Given the description of an element on the screen output the (x, y) to click on. 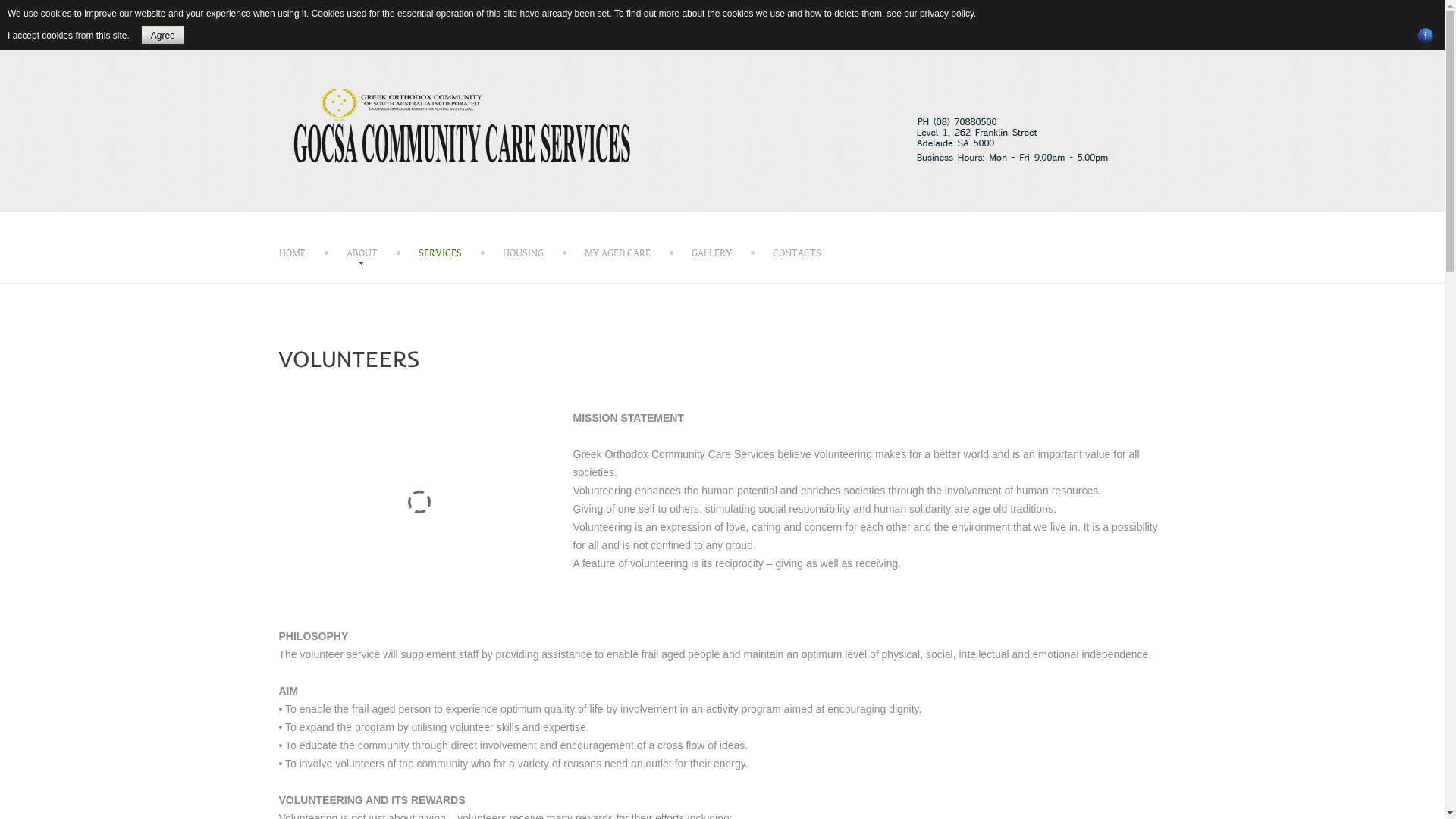
HOME Element type: text (292, 253)
CONTACTS Element type: text (795, 253)
Agree Element type: text (162, 34)
MY AGED CARE Element type: text (616, 253)
EU Cookie Directive Module Information Element type: hover (1425, 35)
ABOUT Element type: text (360, 253)
privacy policy Element type: text (946, 13)
HOUSING Element type: text (522, 253)
GALLERY Element type: text (711, 253)
SERVICES Element type: text (439, 253)
